Given the description of an element on the screen output the (x, y) to click on. 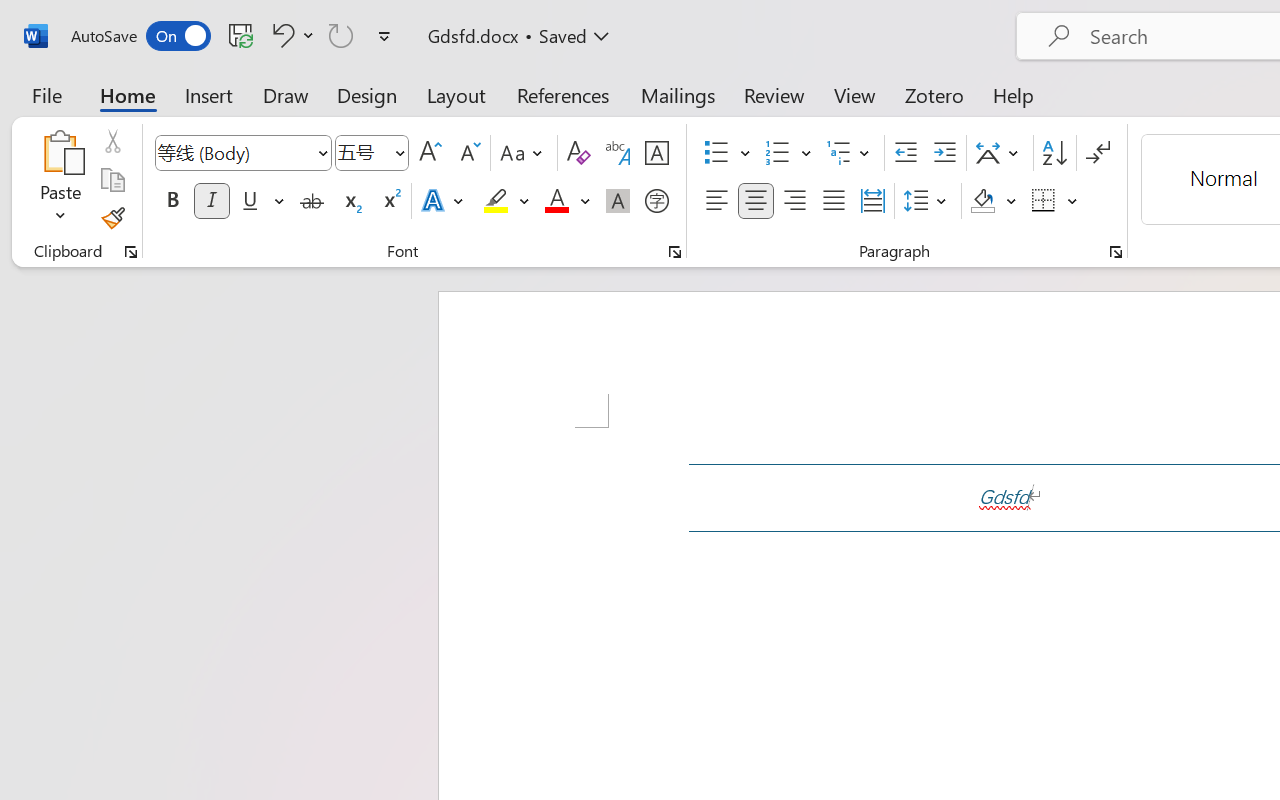
Sort... (1054, 153)
Character Border (656, 153)
Character Shading (618, 201)
Font... (675, 252)
Distributed (872, 201)
Change Case (524, 153)
Show/Hide Editing Marks (1098, 153)
